Given the description of an element on the screen output the (x, y) to click on. 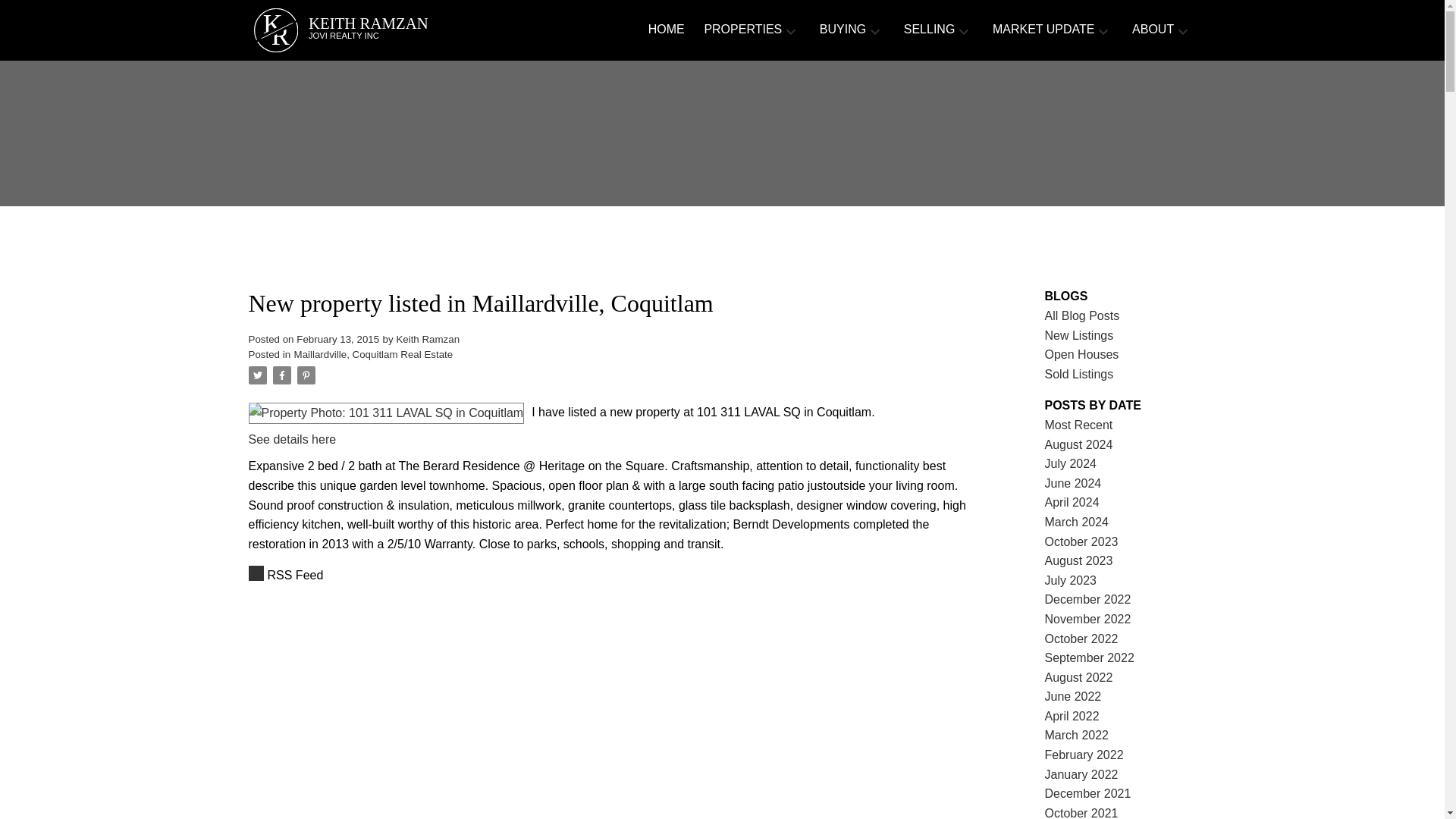
SELLING (929, 30)
PROPERTIES (742, 30)
ABOUT (1152, 30)
RSS (392, 30)
HOME (616, 575)
BUYING (665, 30)
